Given the description of an element on the screen output the (x, y) to click on. 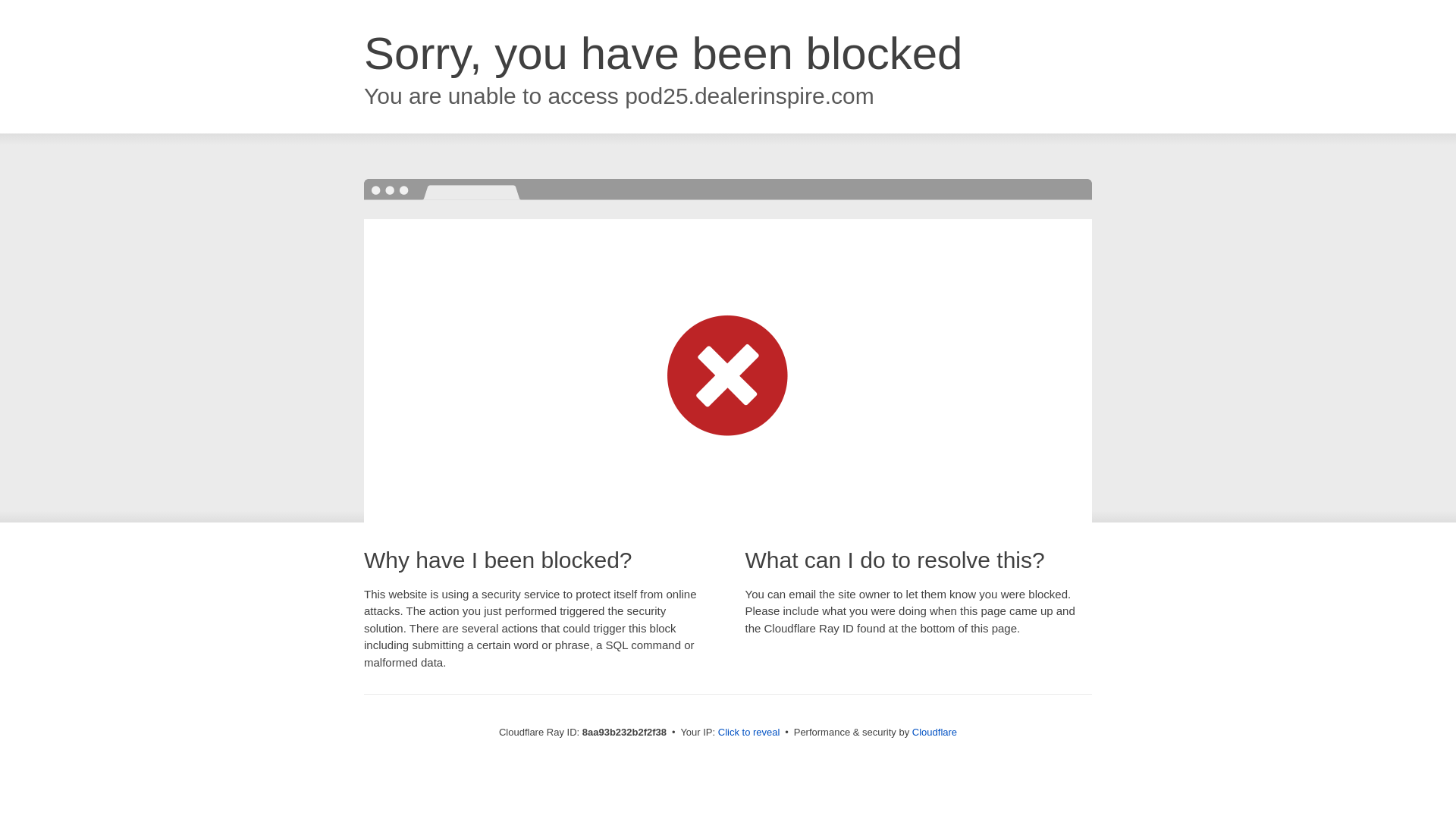
Cloudflare (934, 731)
Click to reveal (748, 732)
